Given the description of an element on the screen output the (x, y) to click on. 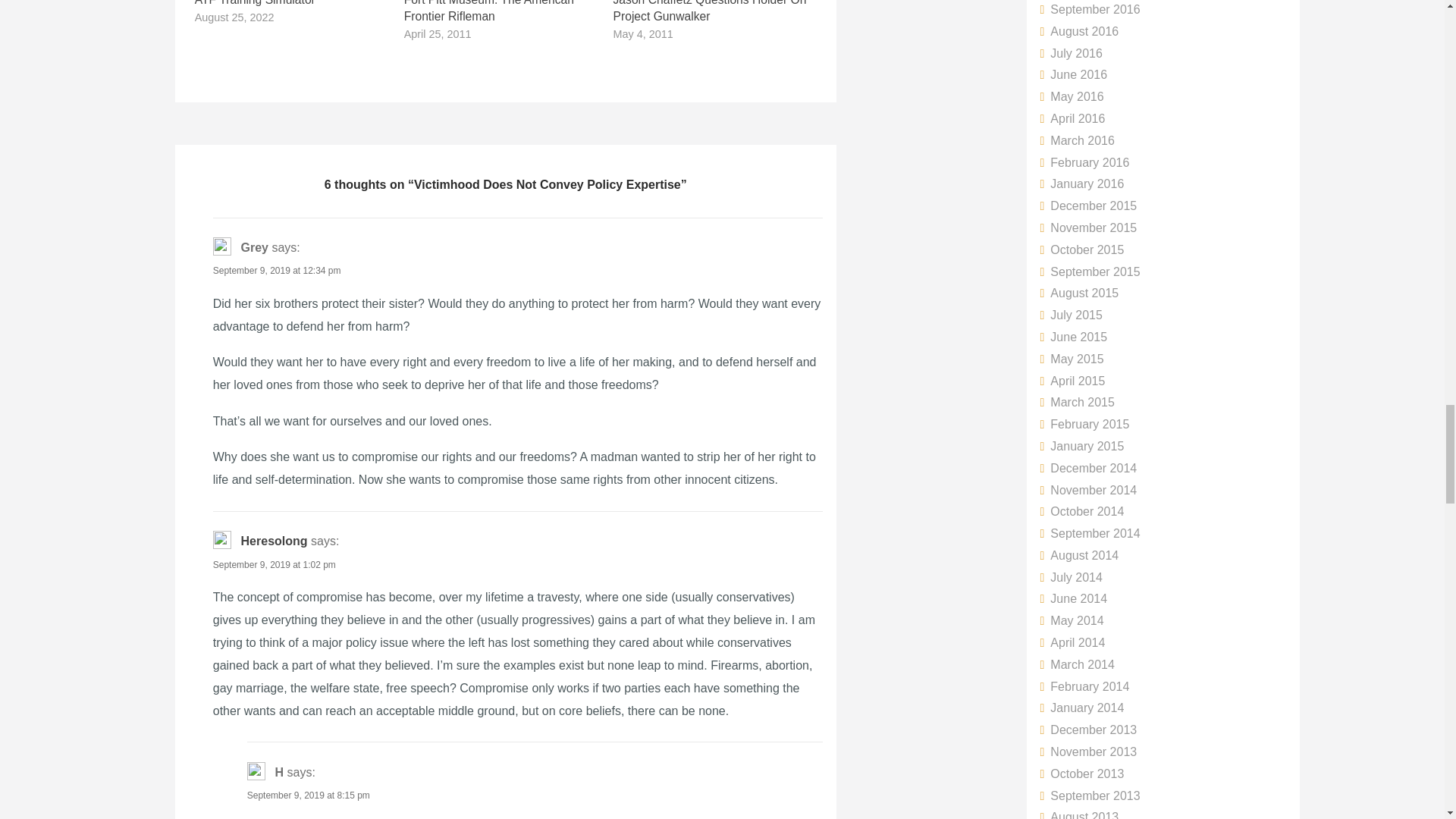
Jason Chaffetz Questions Holder On Project Gunwalker (709, 11)
September 9, 2019 at 1:02 pm (274, 564)
September 9, 2019 at 8:15 pm (308, 795)
ATF Training Simulator (255, 2)
Heresolong (274, 540)
September 9, 2019 at 12:34 pm (276, 270)
Fort Pitt Museum: The American Frontier Rifleman (488, 11)
